Given the description of an element on the screen output the (x, y) to click on. 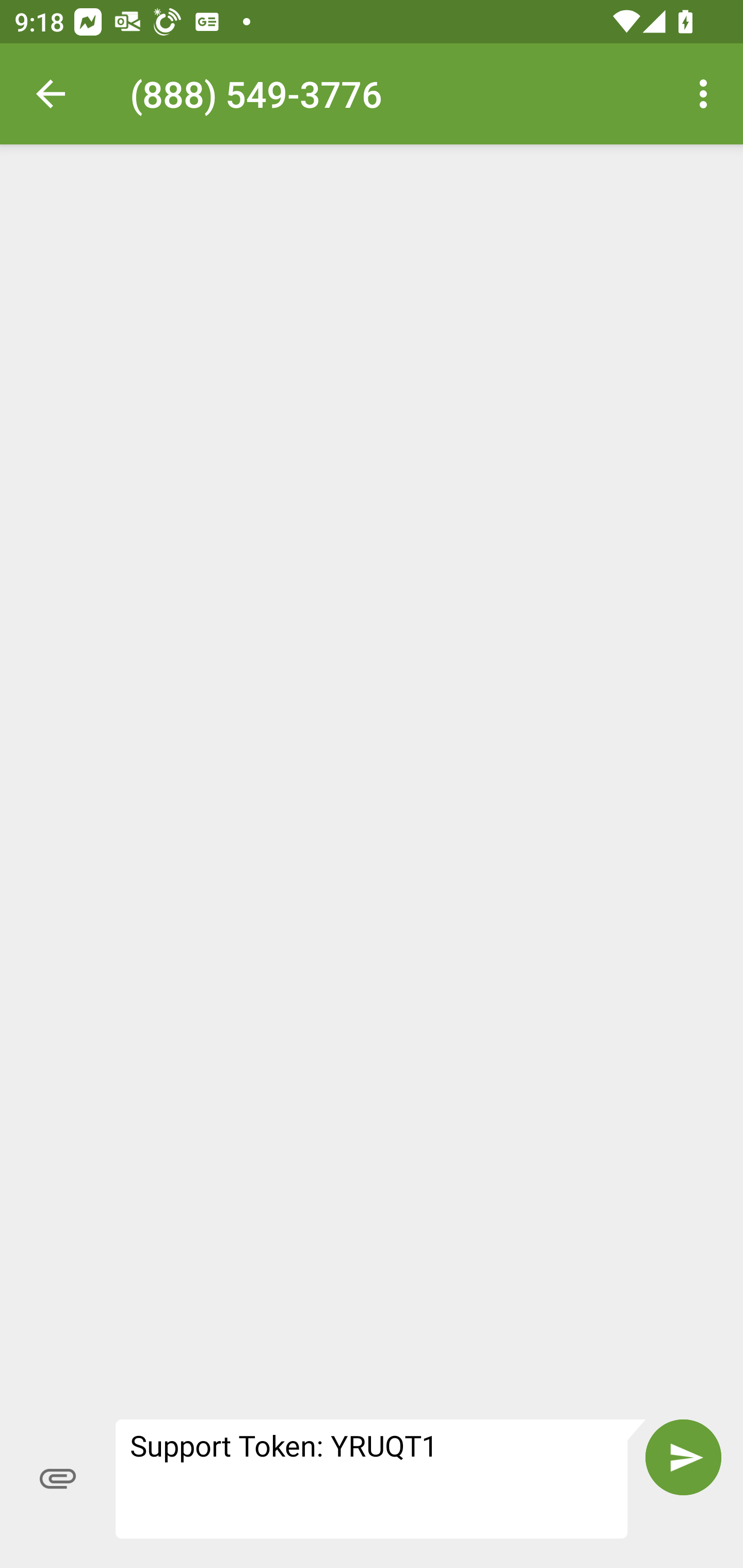
Navigate up (50, 93)
More options (706, 93)
Support Token: YRUQT1

 (380, 1478)
Add an attachment (57, 1478)
